Given the description of an element on the screen output the (x, y) to click on. 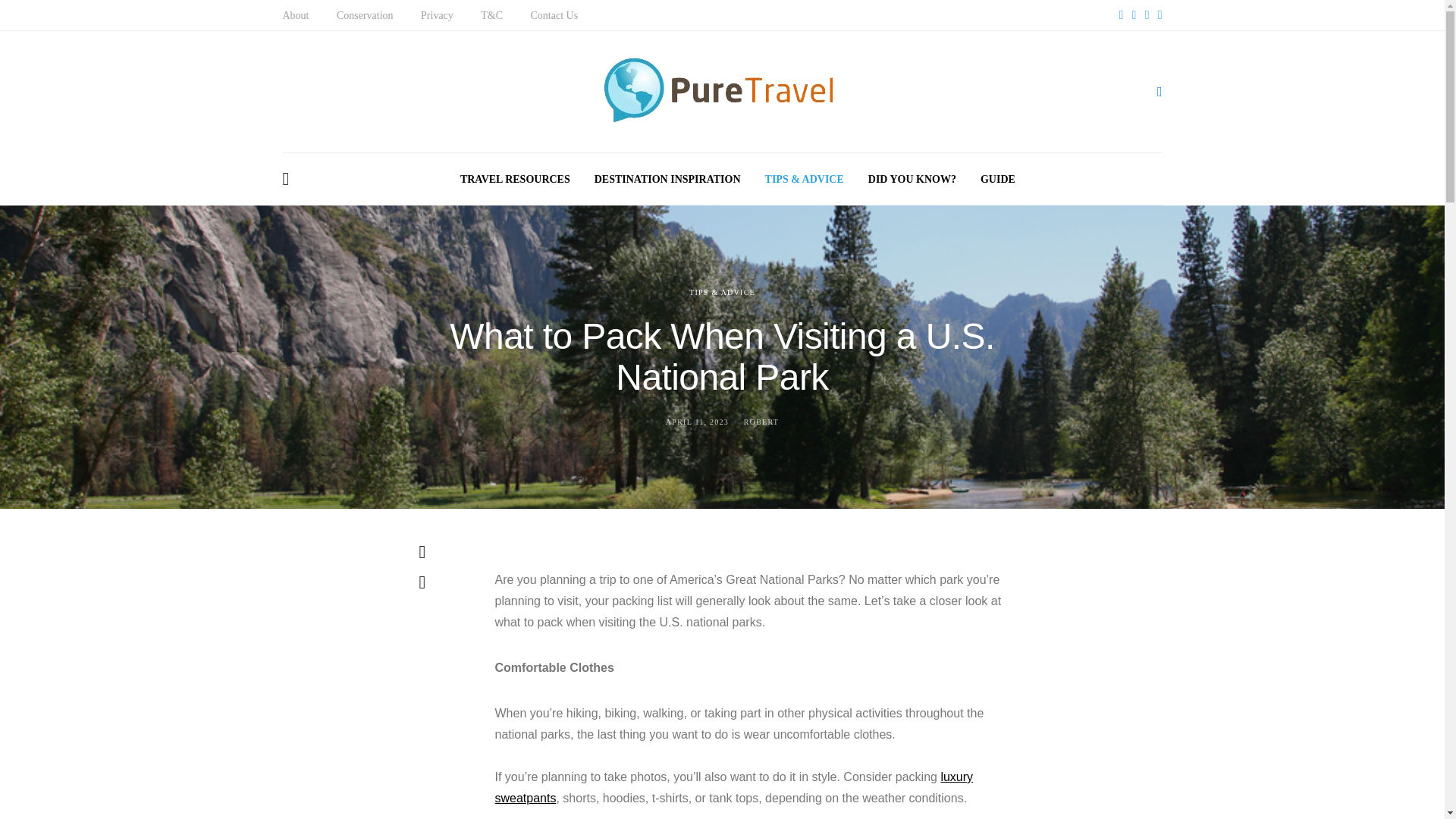
Contact Us (554, 15)
luxury sweatpants (733, 787)
View all posts by Robert (761, 421)
APRIL 11, 2023 (697, 421)
TRAVEL RESOURCES (515, 178)
DID YOU KNOW? (911, 178)
Privacy (436, 15)
ROBERT (761, 421)
Conservation (364, 15)
About (295, 15)
